Given the description of an element on the screen output the (x, y) to click on. 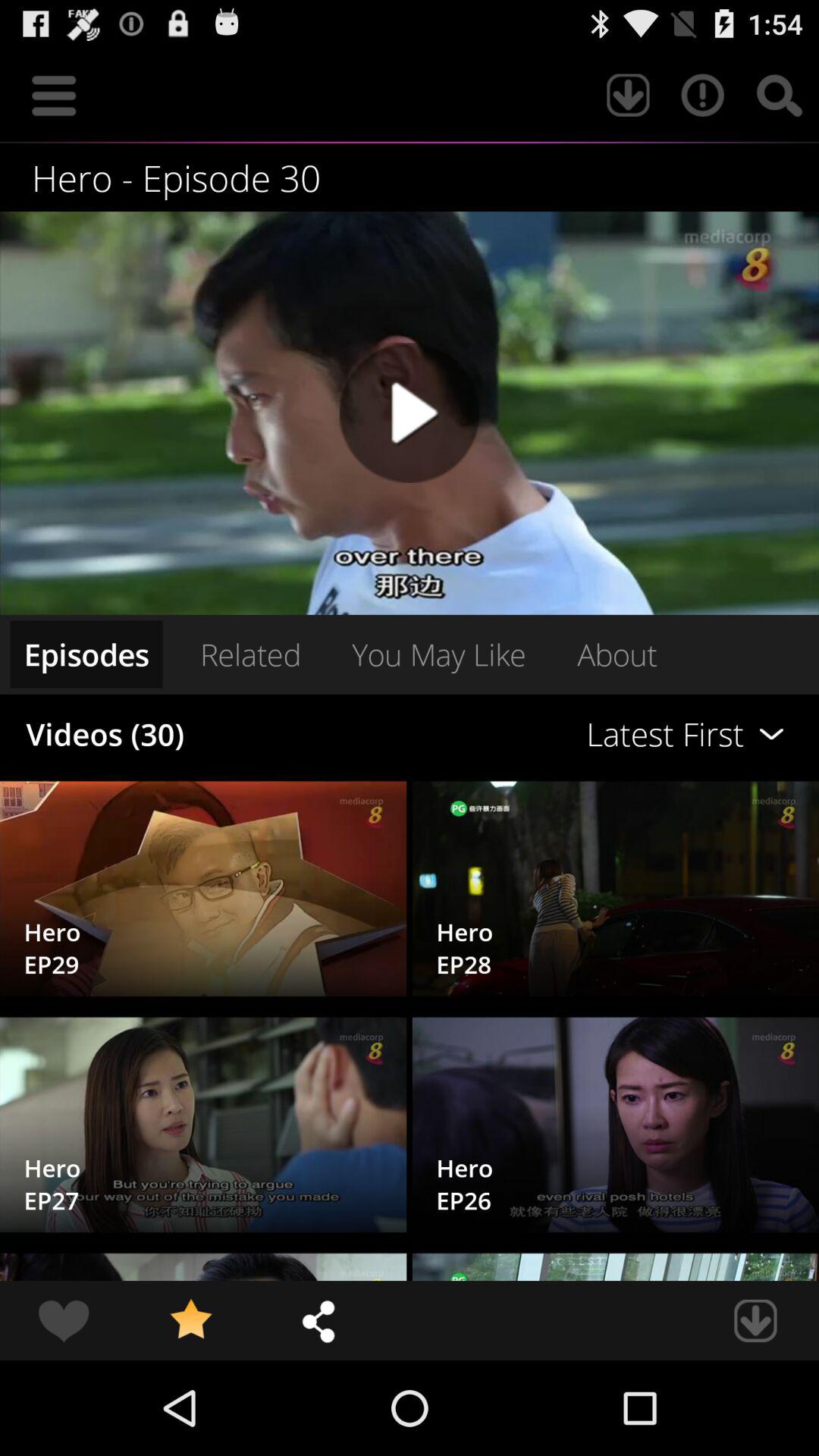
select icon next to related (86, 654)
